Given the description of an element on the screen output the (x, y) to click on. 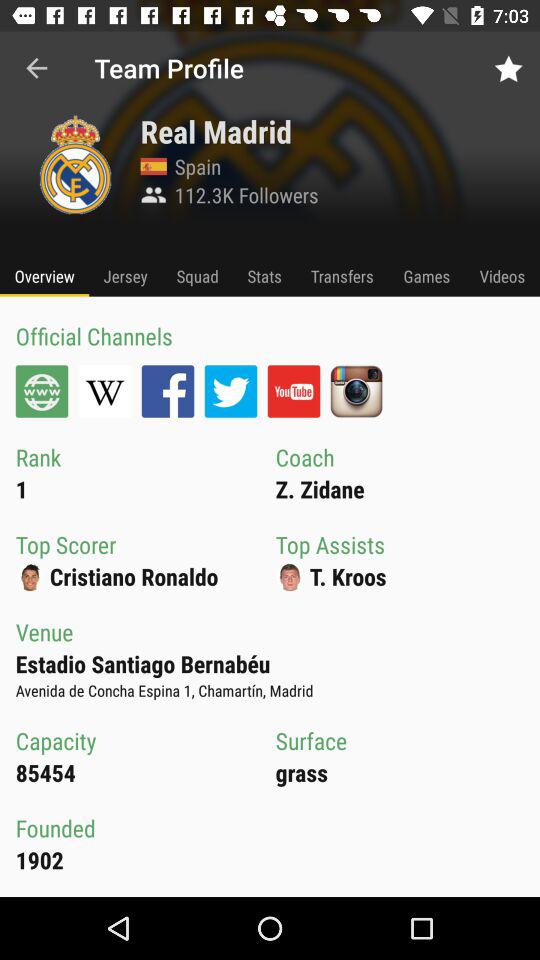
facebook (167, 391)
